Given the description of an element on the screen output the (x, y) to click on. 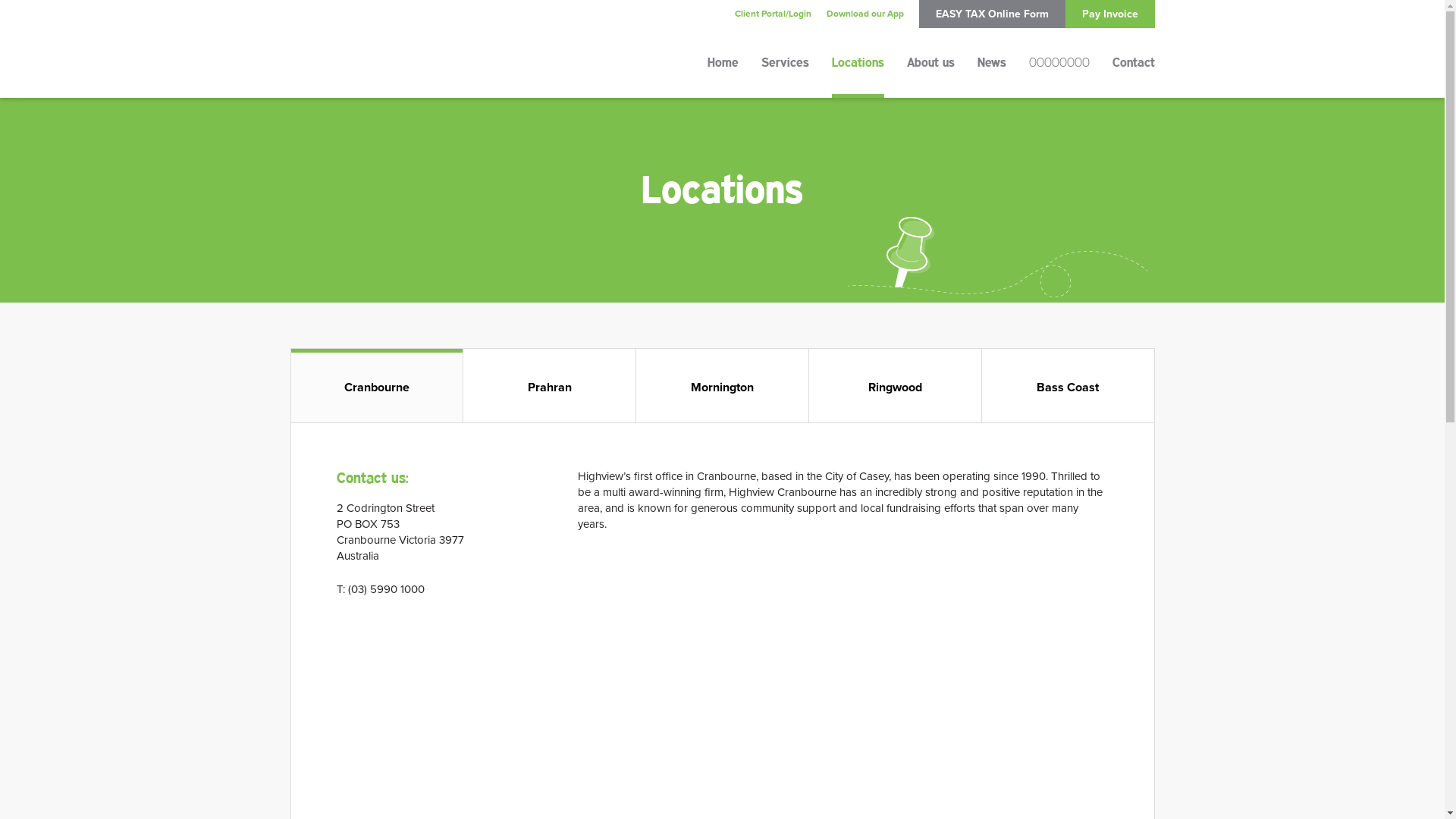
News Element type: text (990, 73)
Services Element type: text (785, 73)
EASY TAX Online Form Element type: text (992, 14)
Contact Element type: text (1132, 73)
Download our App Element type: text (864, 13)
About us Element type: text (930, 73)
Cranbourne Element type: text (377, 385)
Bass Coast Element type: text (1068, 385)
Client Portal/Login Element type: text (772, 13)
Ringwood Element type: text (895, 385)
Pay Invoice Element type: text (1109, 14)
Locations Element type: text (857, 73)
Home Element type: text (721, 73)
Mornington Element type: text (722, 385)
Prahran Element type: text (549, 385)
